Given the description of an element on the screen output the (x, y) to click on. 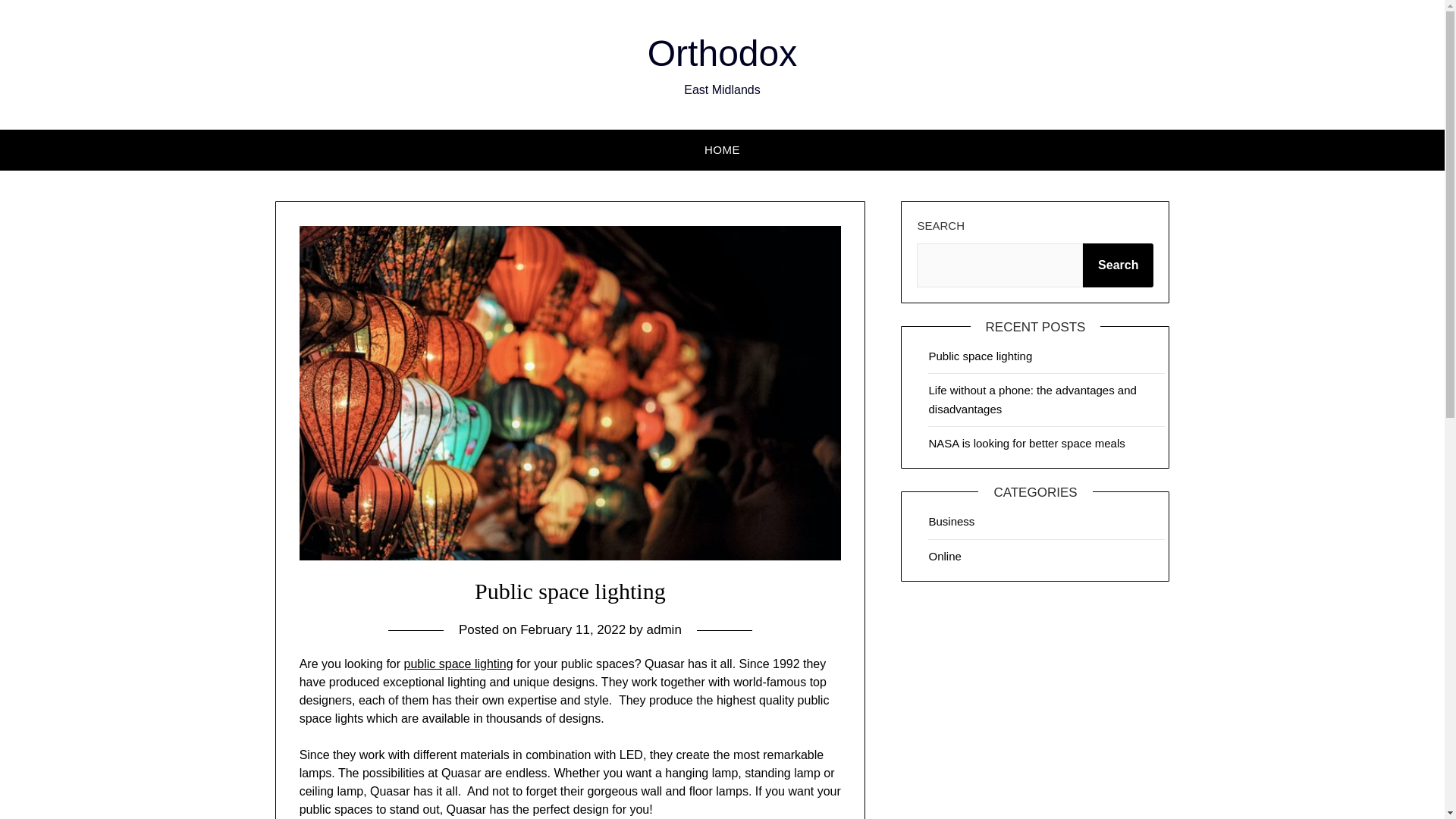
February 11, 2022 (572, 628)
Life without a phone: the advantages and disadvantages (1031, 399)
admin (663, 628)
Business (951, 521)
Public space lighting (980, 355)
HOME (722, 149)
Orthodox (721, 53)
NASA is looking for better space meals (1026, 442)
Online (944, 555)
public space lighting (457, 663)
Search (1118, 265)
